Given the description of an element on the screen output the (x, y) to click on. 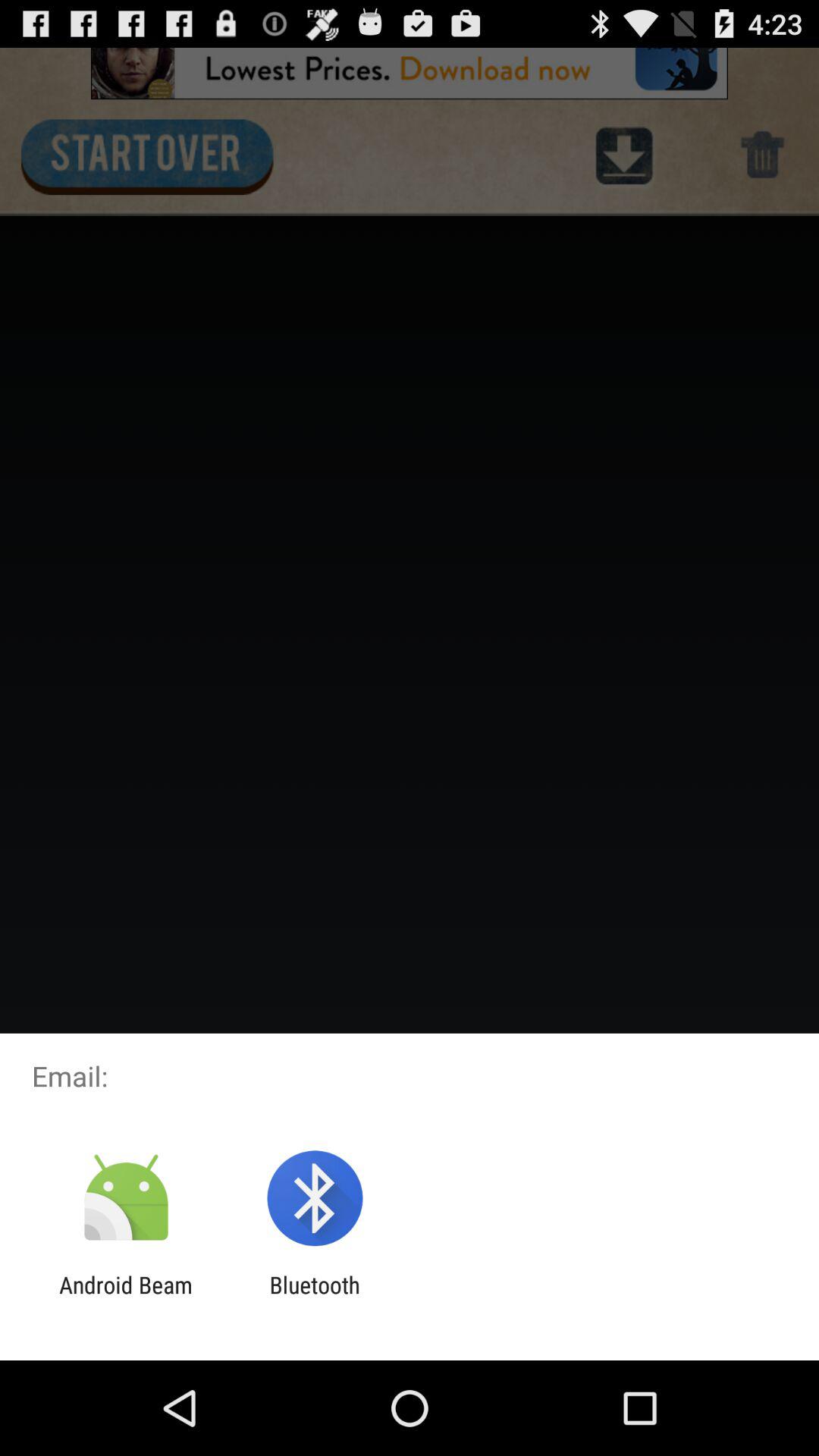
choose android beam app (125, 1298)
